Given the description of an element on the screen output the (x, y) to click on. 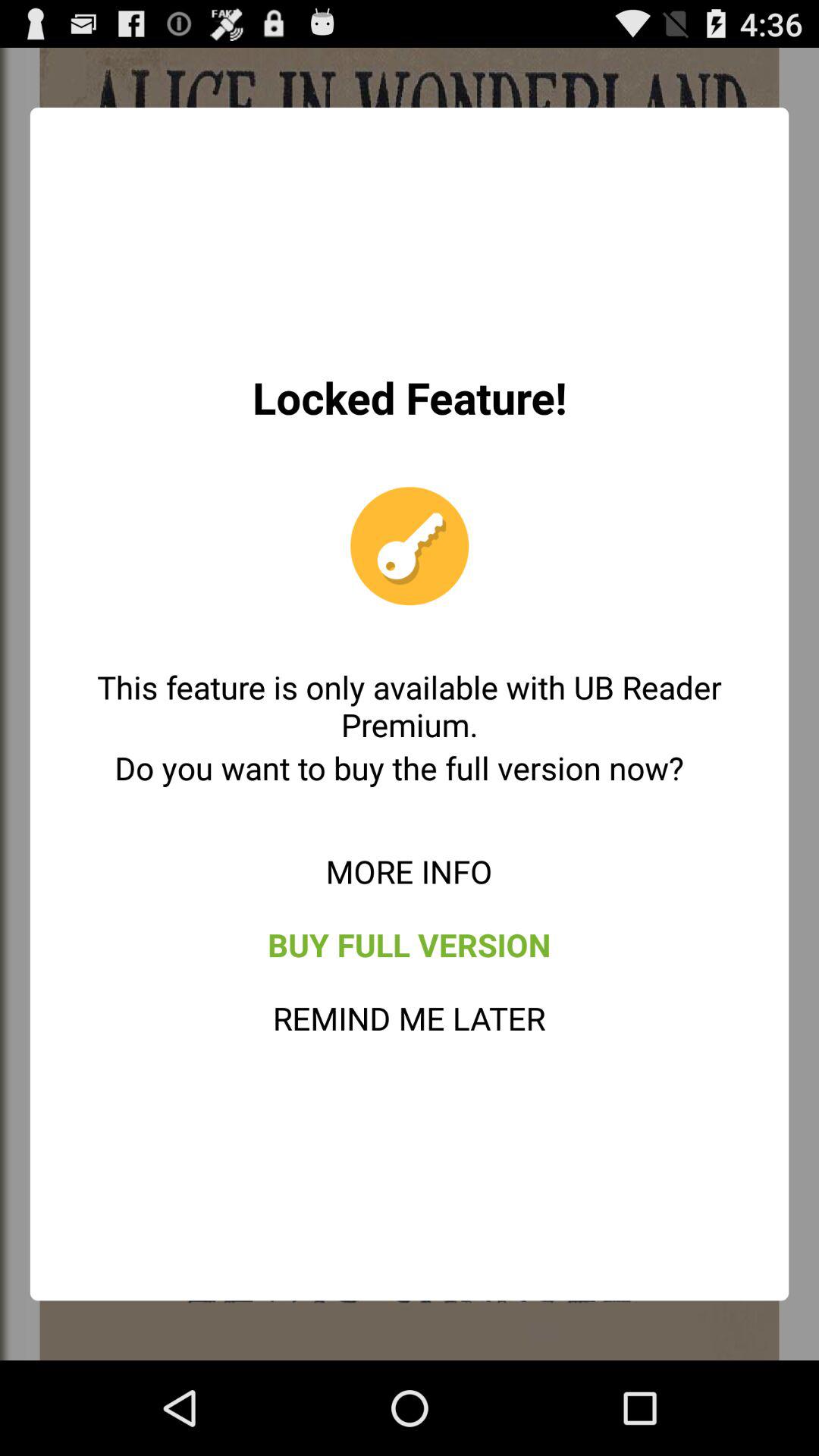
jump until the remind me later (409, 1017)
